Given the description of an element on the screen output the (x, y) to click on. 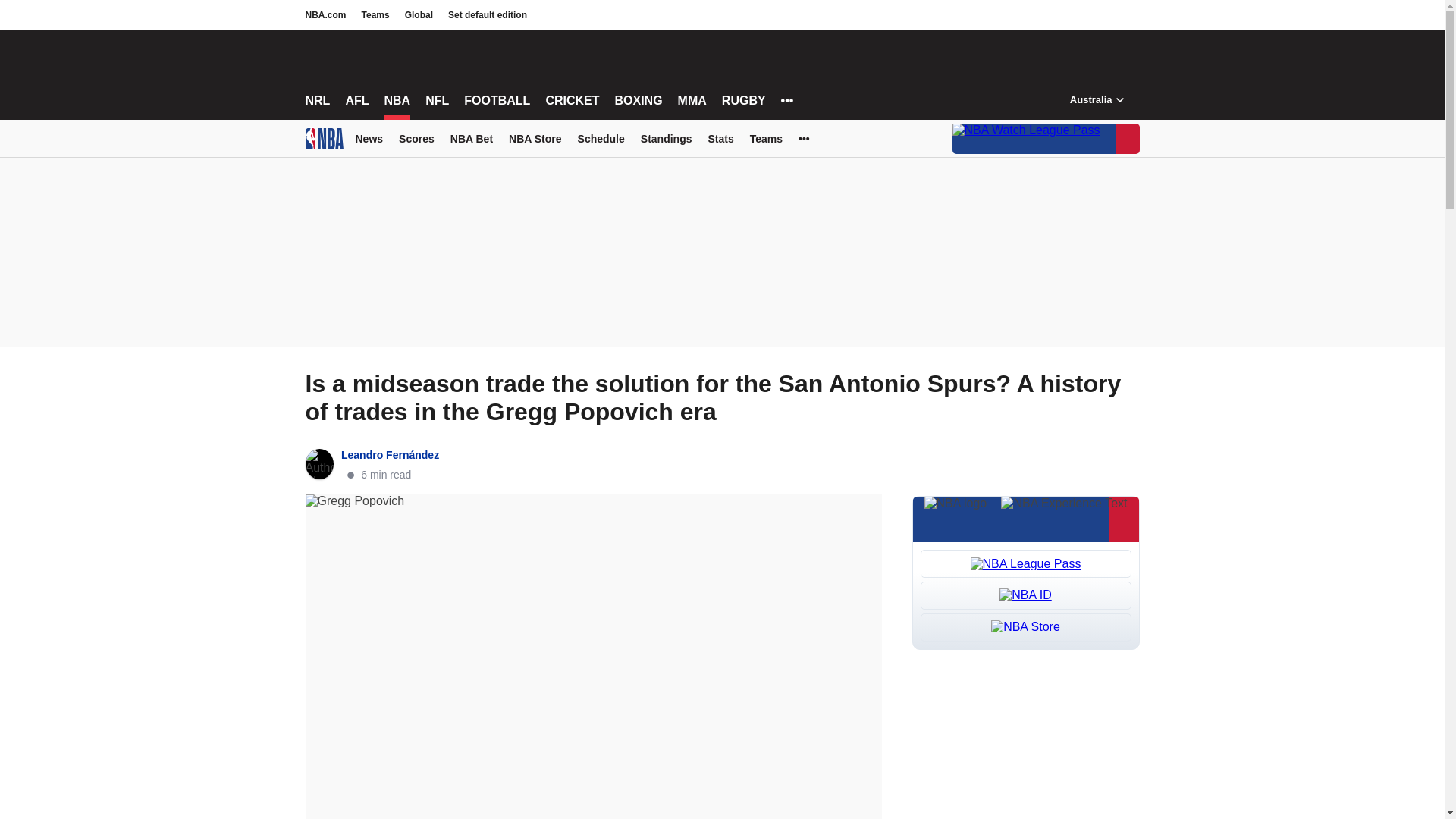
Teams (375, 14)
Teams (375, 14)
Global (418, 14)
